Given the description of an element on the screen output the (x, y) to click on. 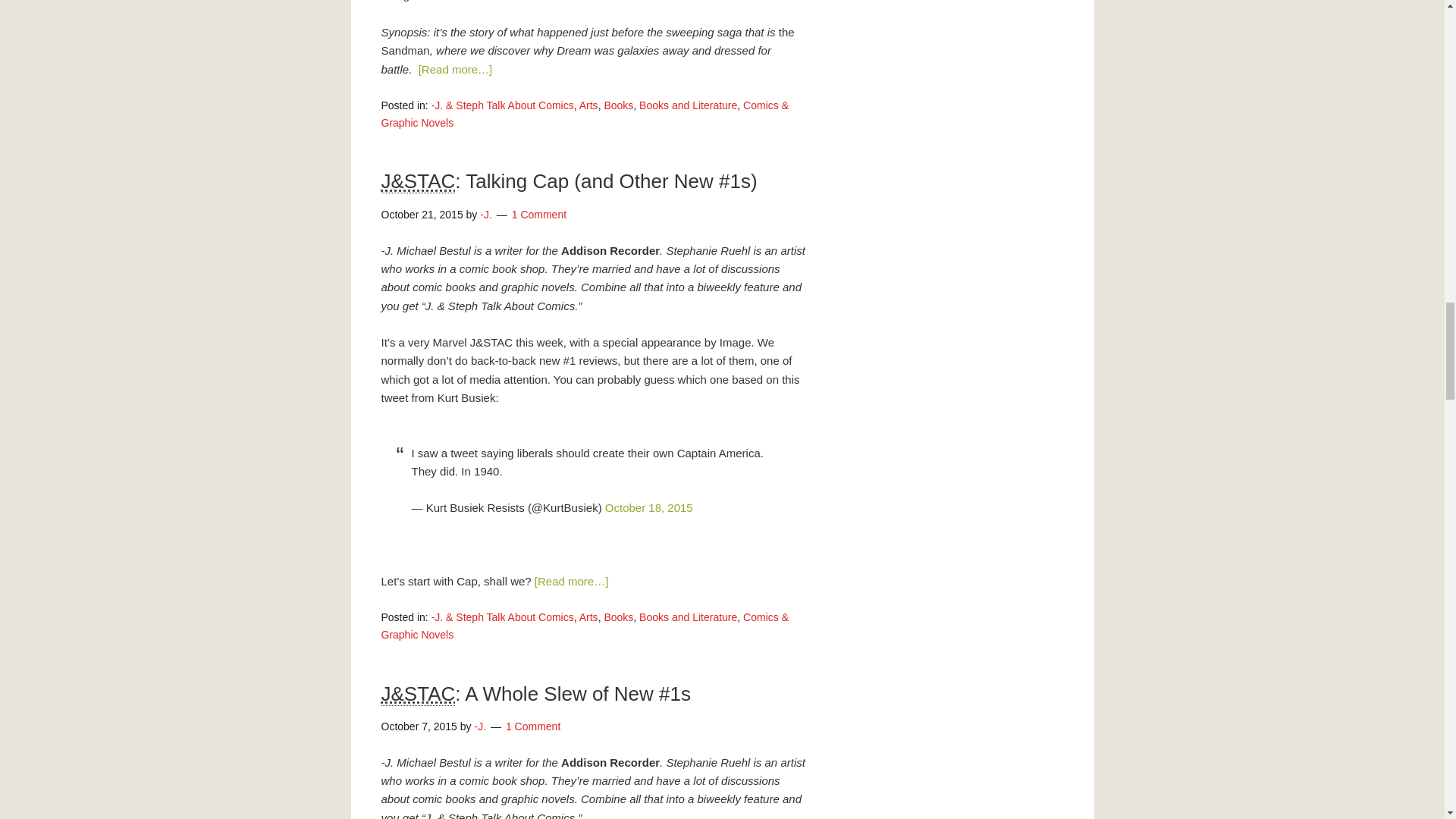
Posts by -J. (486, 214)
Wednesday, October 21, 2015, 8:30 am (421, 214)
Jay and Steph Talk About Comics (417, 181)
